Given the description of an element on the screen output the (x, y) to click on. 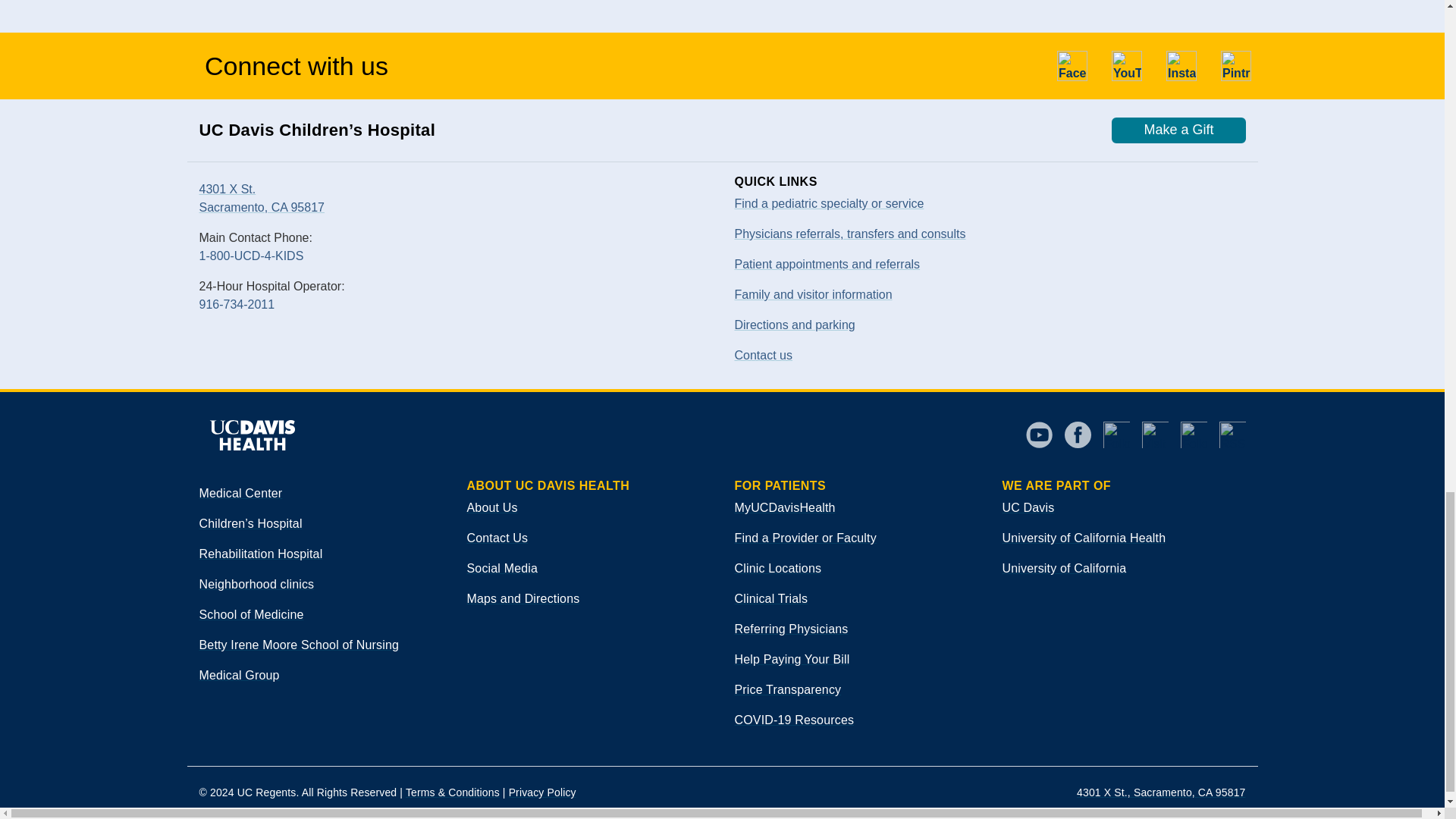
Like UC Davis Children's Hospital on Facebook (1072, 65)
Follow UC Davis Children's Hospital on Instagram (1181, 65)
Subscribe to UC Davis Children's Hospital on YouTube (1126, 65)
Family and visitor guidelines for the Children's Hospital (812, 294)
Patient appointments and referrals (826, 264)
Find a pediatric specialty or service (828, 203)
Appointments and referrals (849, 233)
Make a Gift (1178, 129)
Follow UC Davis Children's Hospital on Pinterest (1235, 65)
